Given the description of an element on the screen output the (x, y) to click on. 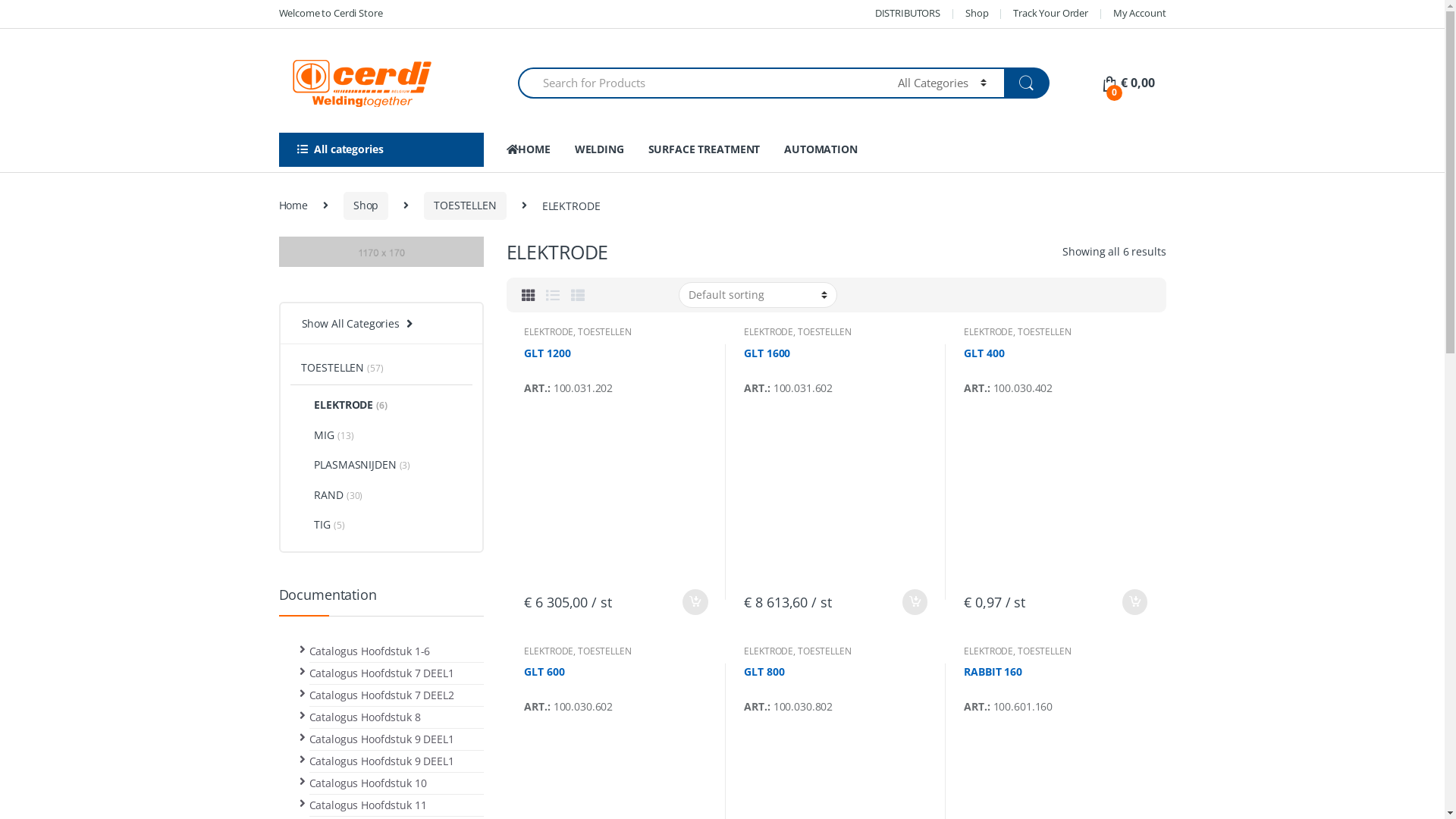
TIG (5) Element type: text (316, 526)
ELEKTRODE Element type: text (548, 650)
PLASMASNIJDEN (3) Element type: text (349, 466)
WELDING Element type: text (599, 149)
Shop Element type: text (976, 13)
GLT 400
ART.: 100.030.402 Element type: text (1055, 463)
TOESTELLEN Element type: text (604, 331)
ELEKTRODE Element type: text (988, 650)
Add to cart Element type: text (694, 602)
All categories Element type: text (381, 149)
Add to cart Element type: text (914, 602)
List View Element type: hover (552, 294)
ELEKTRODE Element type: text (988, 331)
Home Element type: text (293, 205)
Catalogus Hoofdstuk 9 DEEL1 Element type: text (381, 738)
MIG (13) Element type: text (321, 436)
ELEKTRODE (6) Element type: text (337, 403)
Catalogus Hoofdstuk 7 DEEL1 Element type: text (381, 672)
SURFACE TREATMENT Element type: text (704, 149)
Catalogus Hoofdstuk 9 DEEL1 Element type: text (381, 760)
Shop Element type: text (365, 205)
ELEKTRODE Element type: text (548, 331)
ELEKTRODE Element type: text (768, 650)
DISTRIBUTORS Element type: text (907, 13)
TOESTELLEN Element type: text (604, 650)
Welcome to Cerdi Store Element type: text (330, 13)
GLT 1200
ART.: 100.031.202 Element type: text (615, 463)
Track Your Order Element type: text (1050, 13)
Catalogus Hoofdstuk 1-6 Element type: text (369, 650)
List View Small Element type: hover (577, 294)
Add to cart Element type: text (1133, 602)
AUTOMATION Element type: text (820, 149)
Grid View Element type: hover (528, 294)
RAND (30) Element type: text (325, 496)
TOESTELLEN Element type: text (1044, 331)
TOESTELLEN Element type: text (1044, 650)
HOME Element type: text (528, 149)
TOESTELLEN (57) Element type: text (335, 369)
ELEKTRODE Element type: text (768, 331)
TOESTELLEN Element type: text (824, 331)
My Account Element type: text (1139, 13)
GLT 1600
ART.: 100.031.602 Element type: text (835, 463)
Catalogus Hoofdstuk 8 Element type: text (364, 716)
Catalogus Hoofdstuk 11 Element type: text (367, 804)
Catalogus Hoofdstuk 10 Element type: text (367, 782)
Catalogus Hoofdstuk 7 DEEL2 Element type: text (381, 694)
TOESTELLEN Element type: text (824, 650)
TOESTELLEN Element type: text (464, 205)
